Given the description of an element on the screen output the (x, y) to click on. 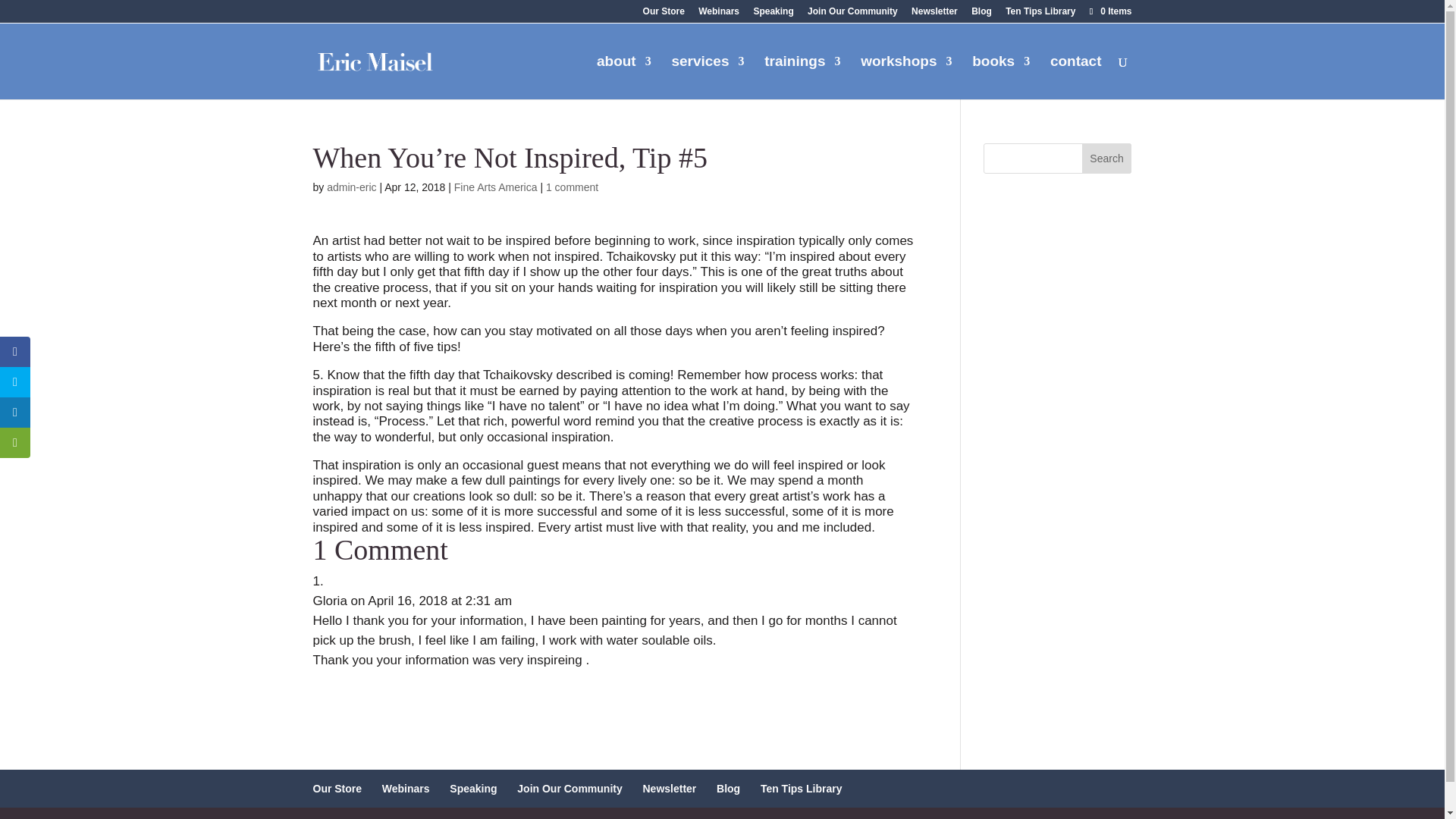
contact (1075, 77)
books (1000, 77)
about (623, 77)
Our Store (663, 14)
Ten Tips Library (1040, 14)
Join Our Community (853, 14)
trainings (802, 77)
0 Items (1108, 10)
Speaking (772, 14)
Newsletter (934, 14)
Webinars (718, 14)
Search (1106, 158)
Posts by admin-eric (350, 186)
workshops (906, 77)
services (707, 77)
